Given the description of an element on the screen output the (x, y) to click on. 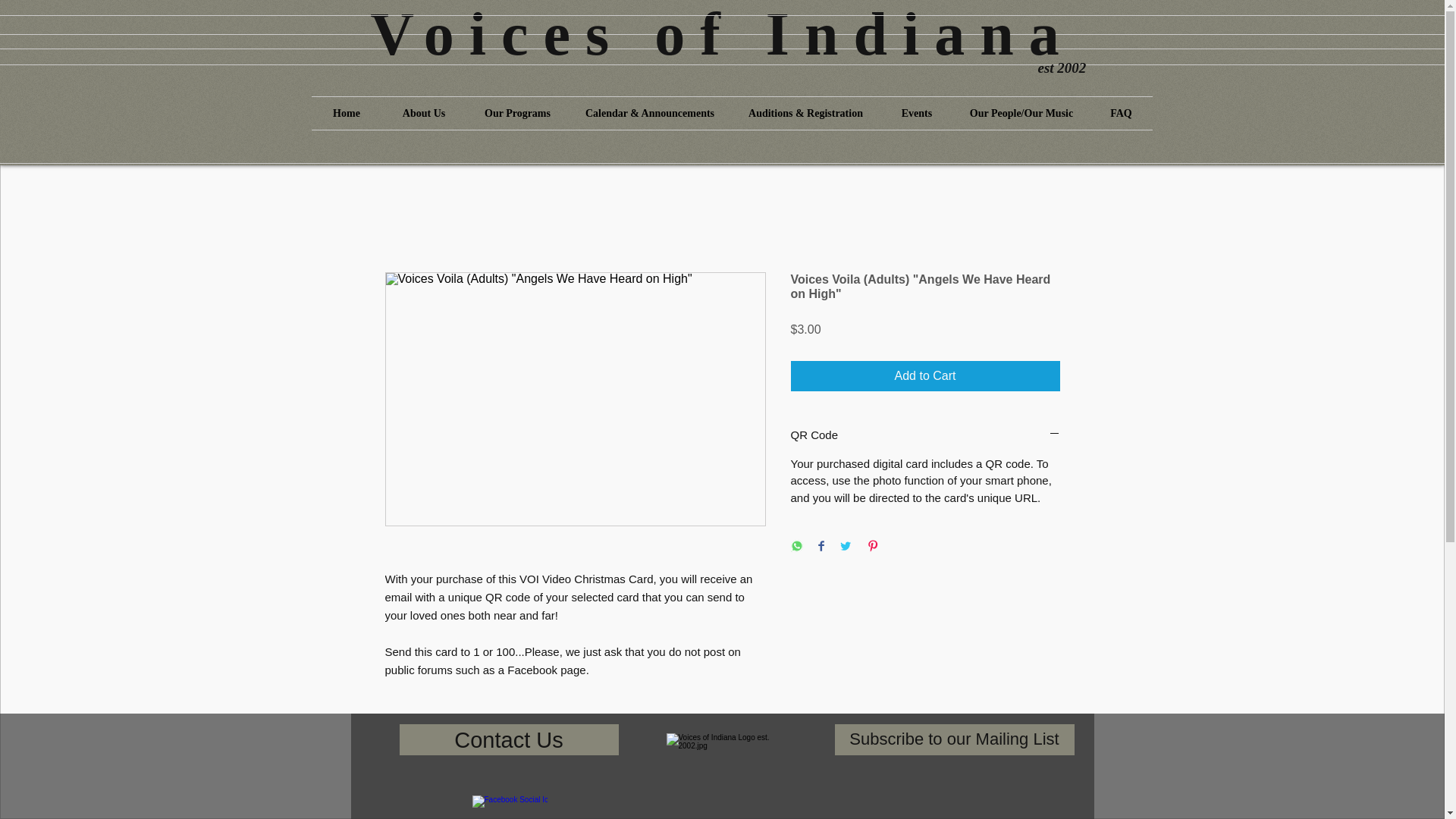
Our Programs (517, 113)
Contact Us (507, 739)
Add to Cart (924, 376)
Home (346, 113)
About Us (423, 113)
QR Code (924, 435)
Events (916, 113)
Subscribe to our Mailing List (954, 739)
FAQ (1121, 113)
